Given the description of an element on the screen output the (x, y) to click on. 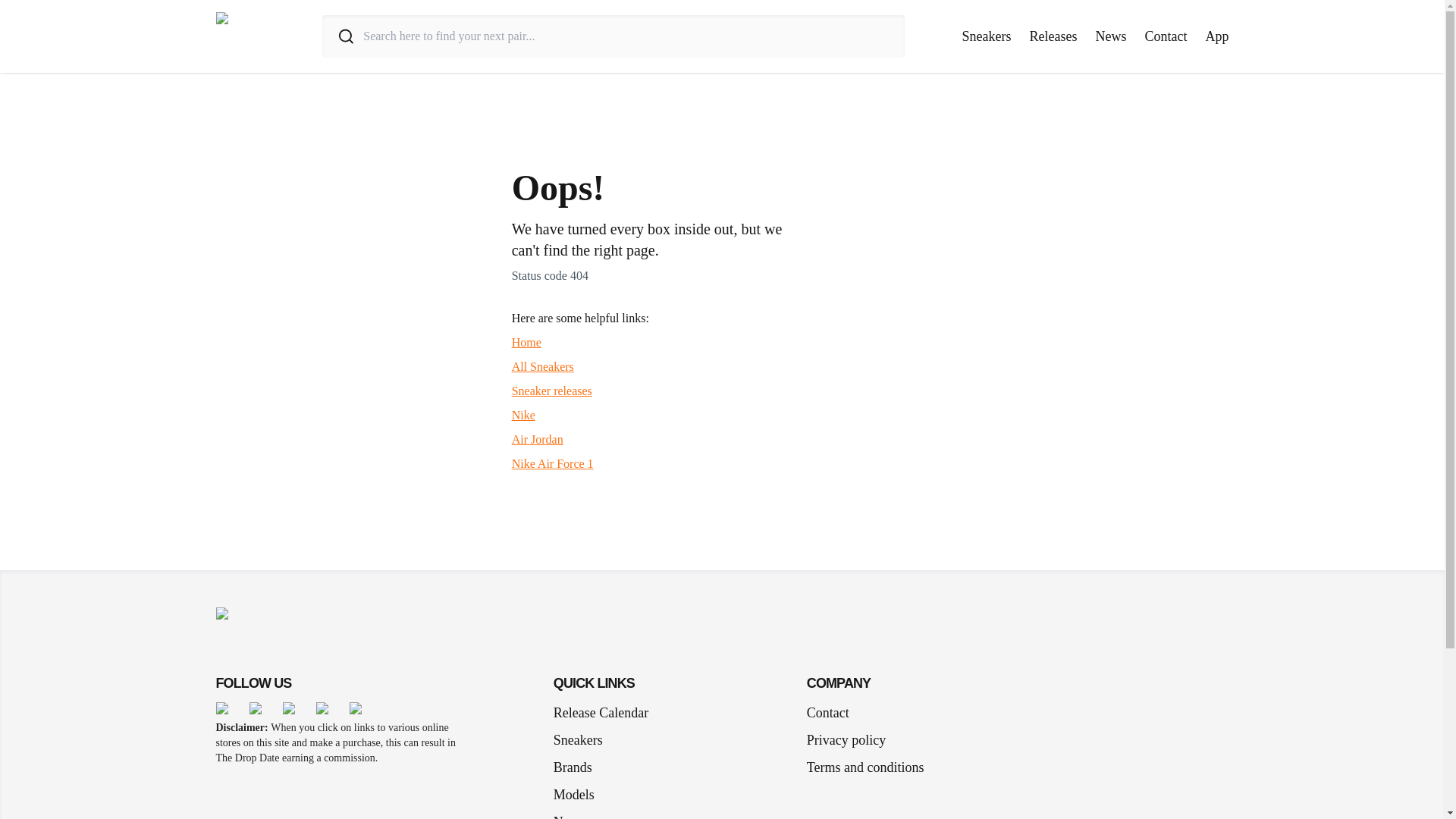
Brands (578, 767)
Nike (523, 414)
Models (580, 794)
Terms and conditions (865, 767)
News (1109, 36)
All Sneakers (542, 366)
Sneakers (986, 36)
Air Jordan (537, 439)
App (1216, 36)
Releases (1053, 36)
Release Calendar (600, 712)
News (574, 810)
Nike Air Force 1 (553, 463)
Sneaker releases (552, 390)
Privacy policy (845, 740)
